Given the description of an element on the screen output the (x, y) to click on. 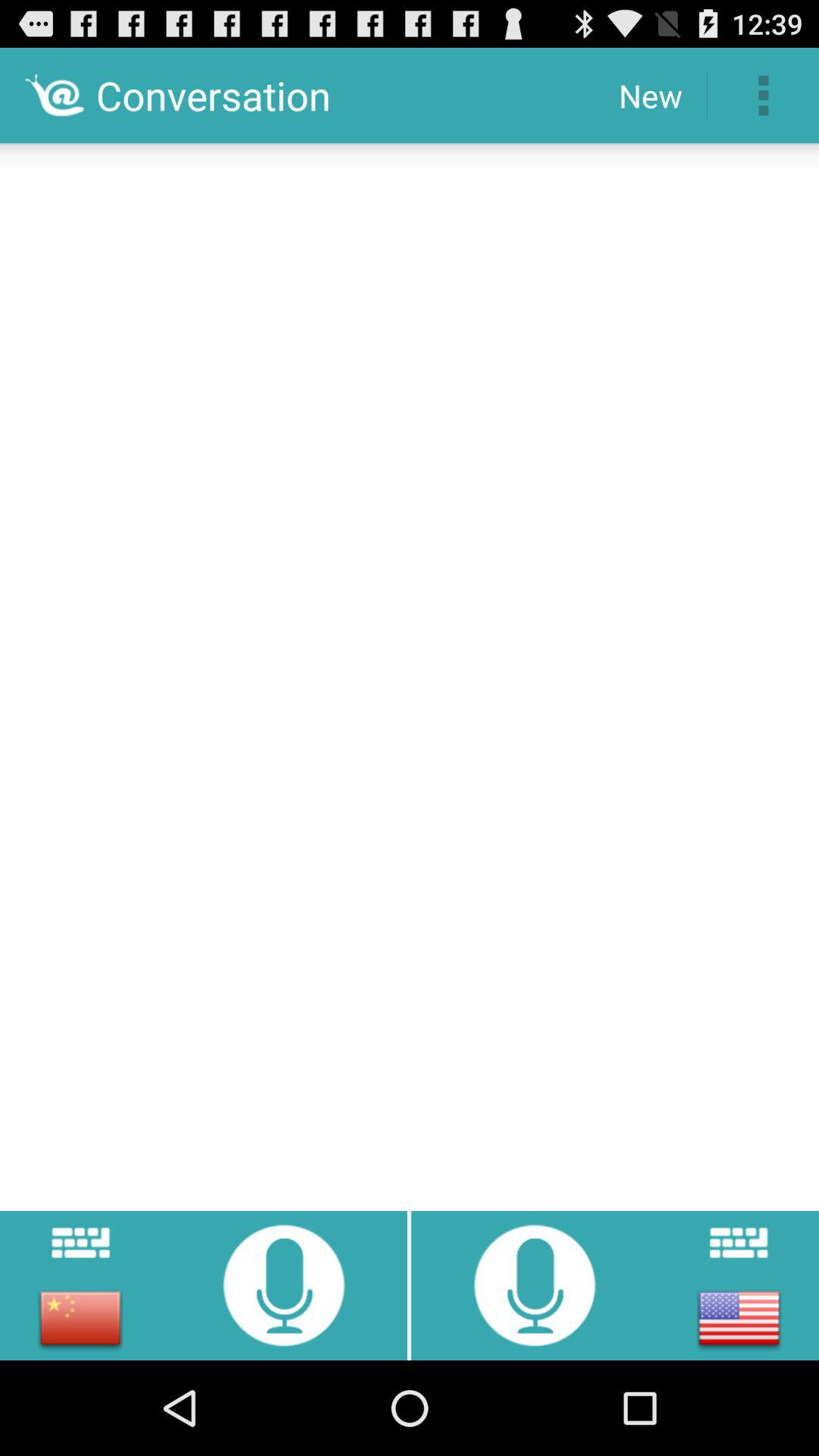
enable keyboard (738, 1242)
